Given the description of an element on the screen output the (x, y) to click on. 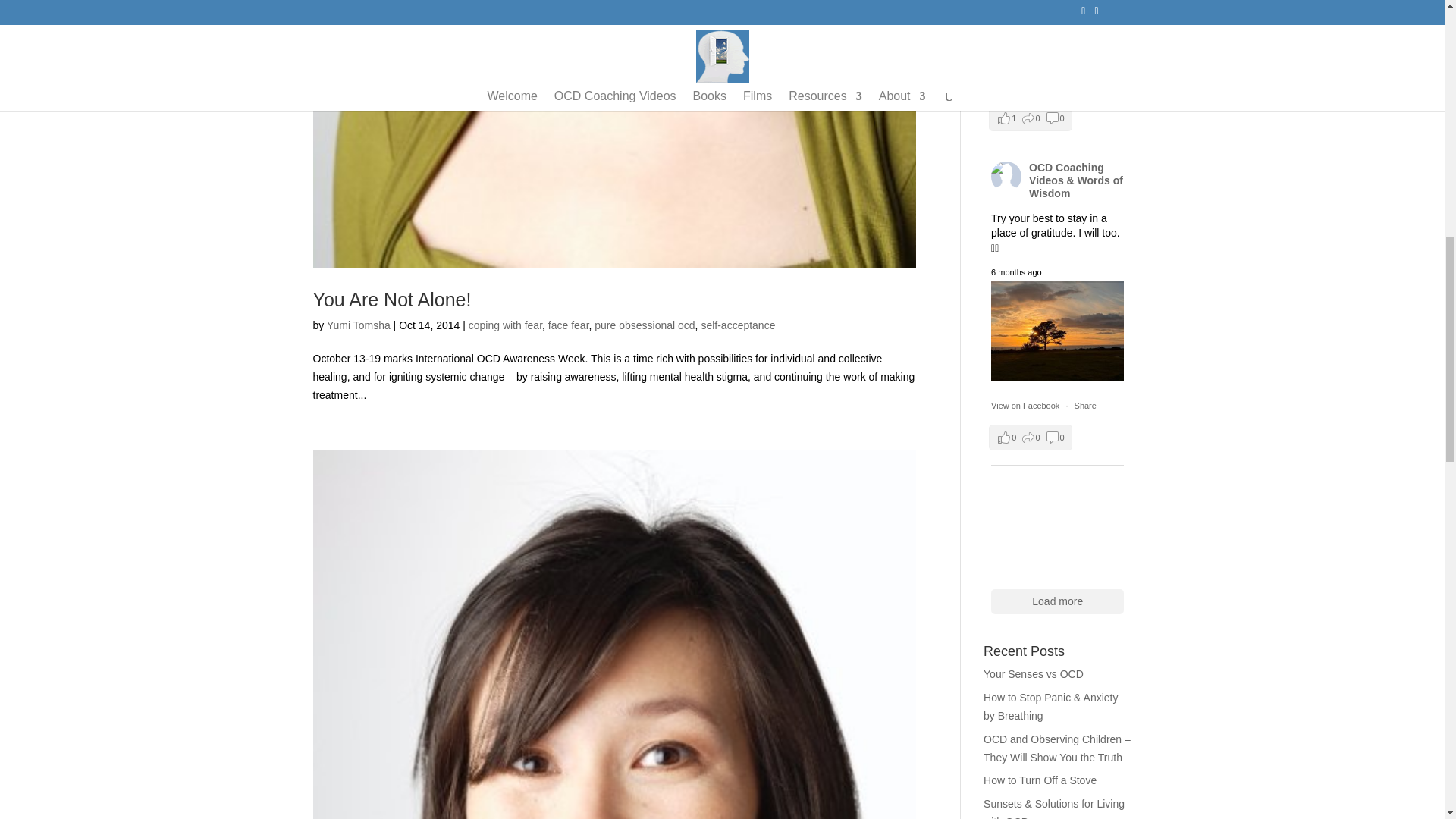
View on Facebook (1025, 86)
Share (1085, 86)
View on Facebook (1025, 405)
Posts by Yumi Tomsha (358, 325)
Share (1085, 405)
